Given the description of an element on the screen output the (x, y) to click on. 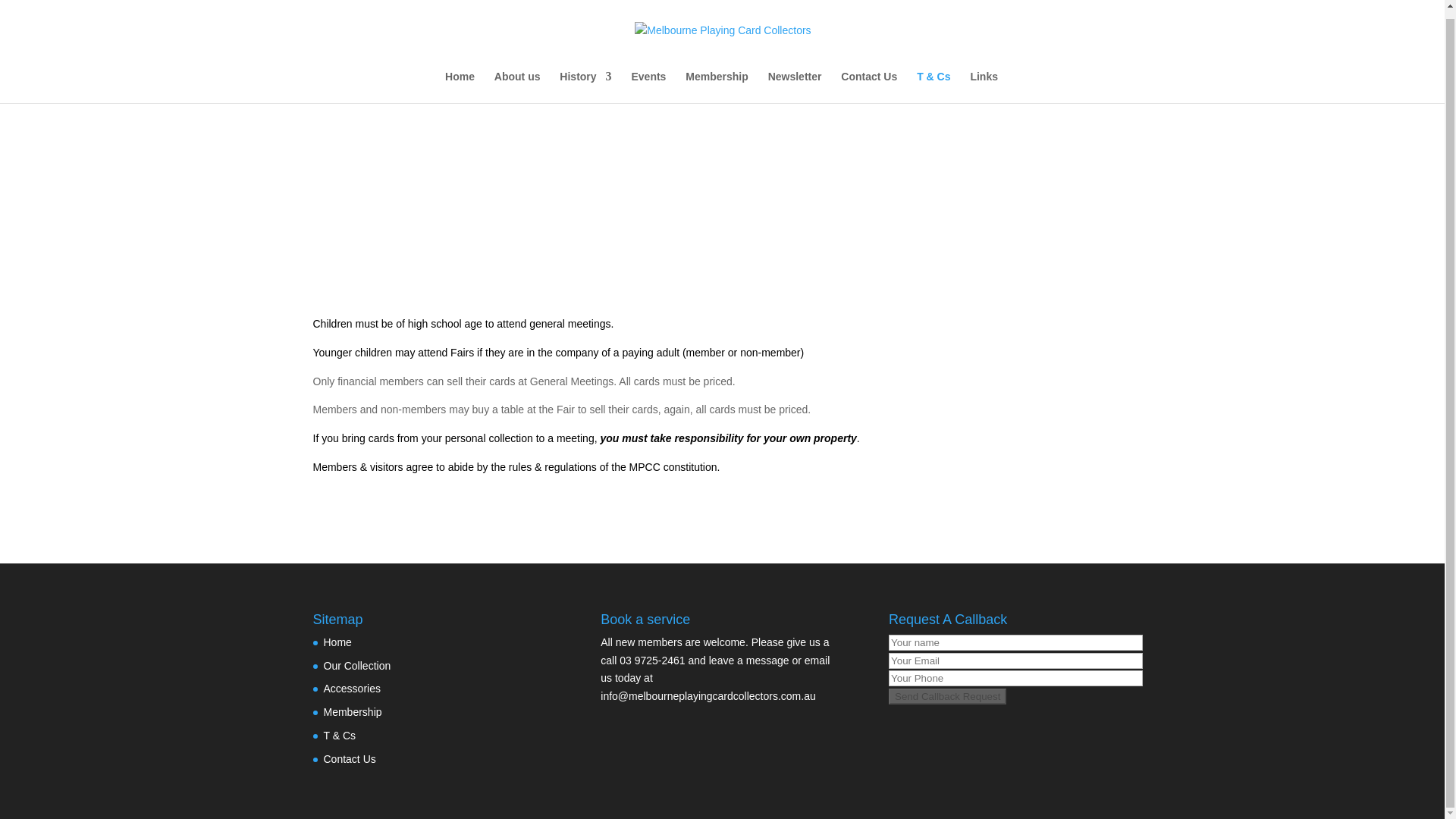
About us (517, 87)
History (585, 87)
Newsletter (795, 87)
Home (336, 642)
Home (459, 87)
Contact Us (349, 758)
Contact Us (868, 87)
Accessories (351, 688)
Send Callback Request (947, 696)
Membership (716, 87)
Membership (352, 711)
Our Collection (356, 665)
Send Callback Request (947, 696)
Events (647, 87)
